Given the description of an element on the screen output the (x, y) to click on. 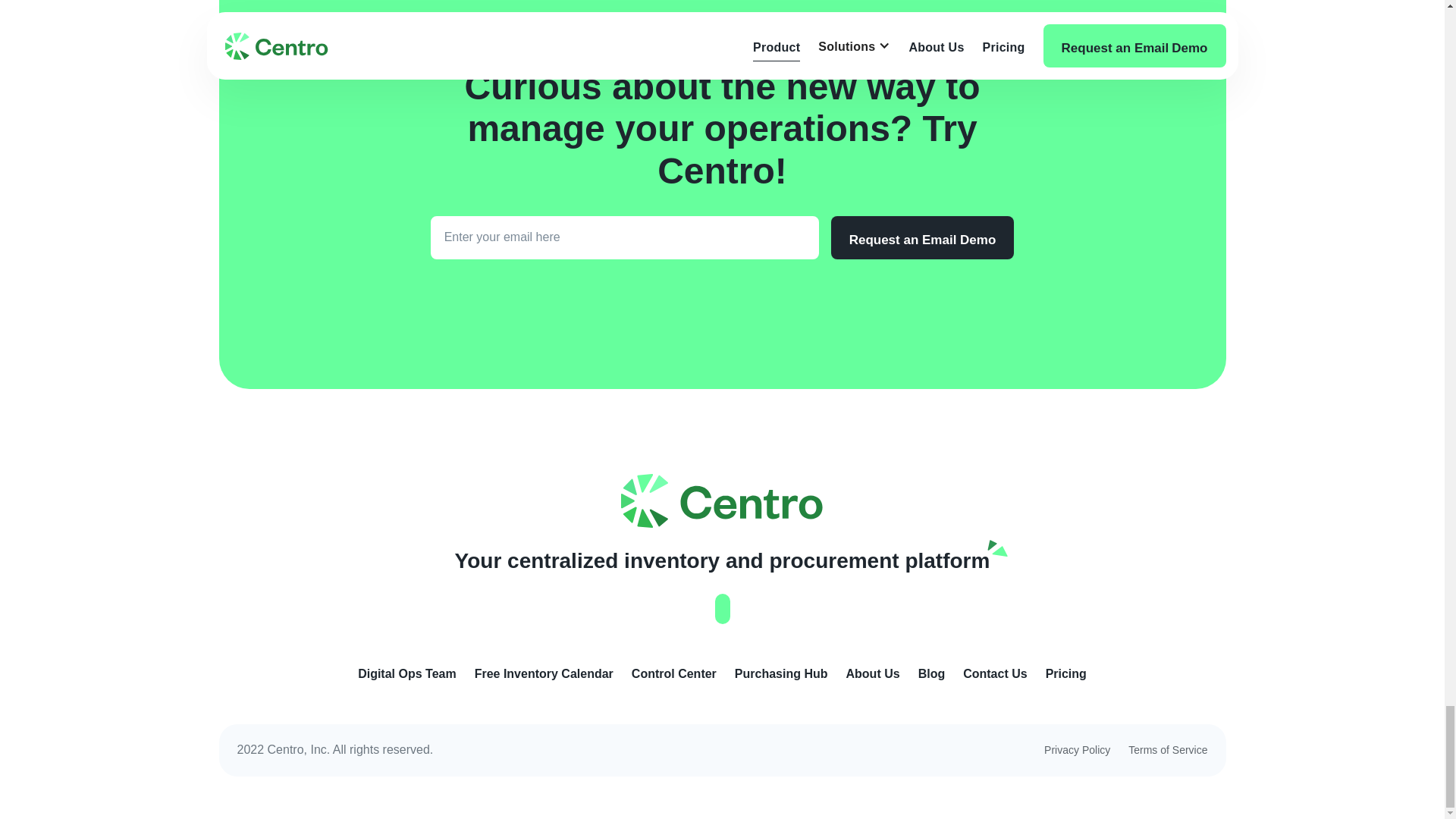
Purchasing Hub (781, 673)
Request an Email Demo (922, 237)
Pricing (1065, 673)
Free Inventory Calendar (543, 673)
Control Center (673, 673)
Digital Ops Team (407, 673)
Privacy Policy (1076, 749)
Terms of Service (1167, 749)
Blog (931, 673)
Contact Us (994, 673)
About Us (872, 673)
Request an Email Demo (922, 237)
